Given the description of an element on the screen output the (x, y) to click on. 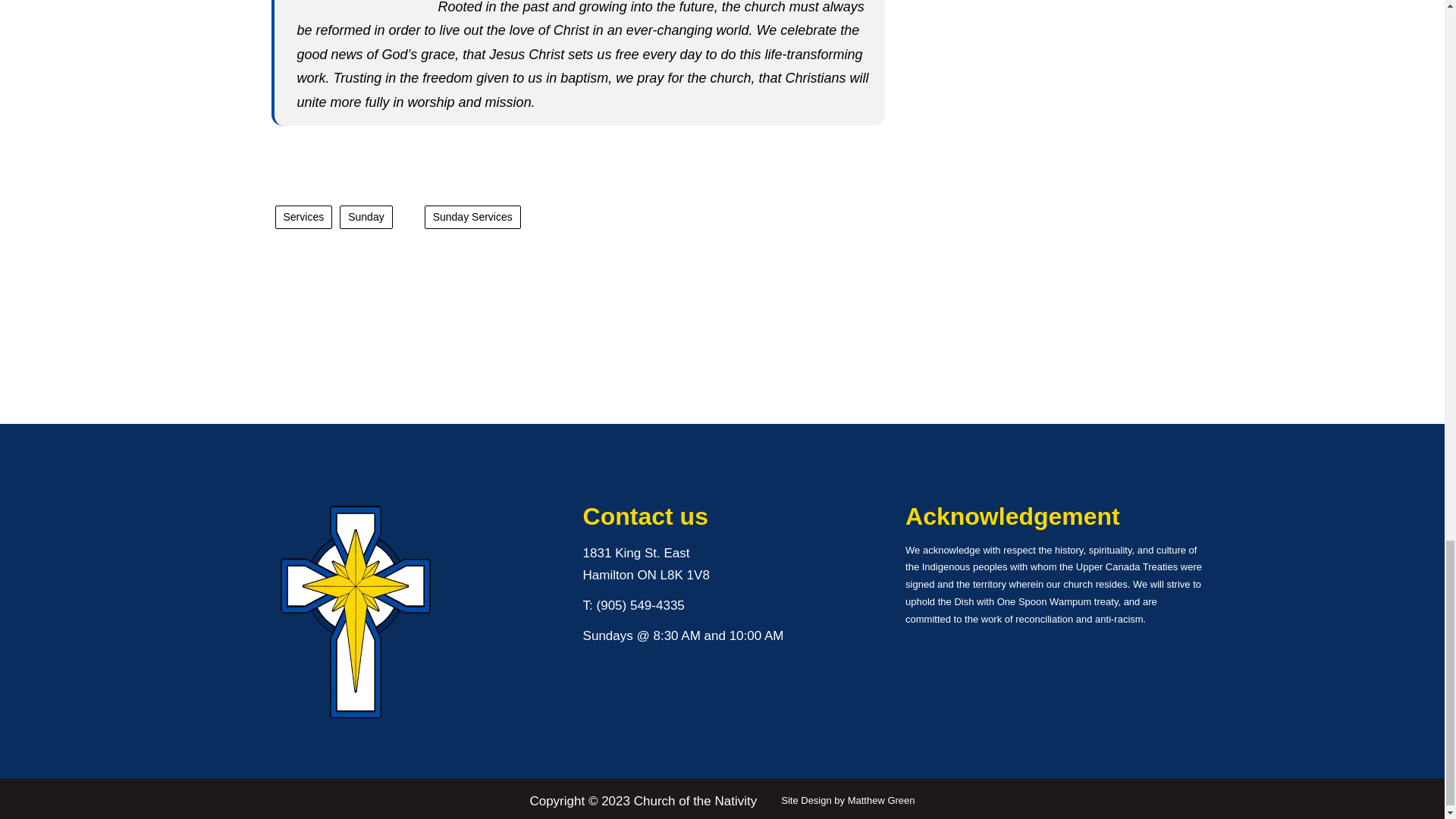
Services (303, 217)
Sunday (365, 217)
Sunday Services (473, 217)
